Given the description of an element on the screen output the (x, y) to click on. 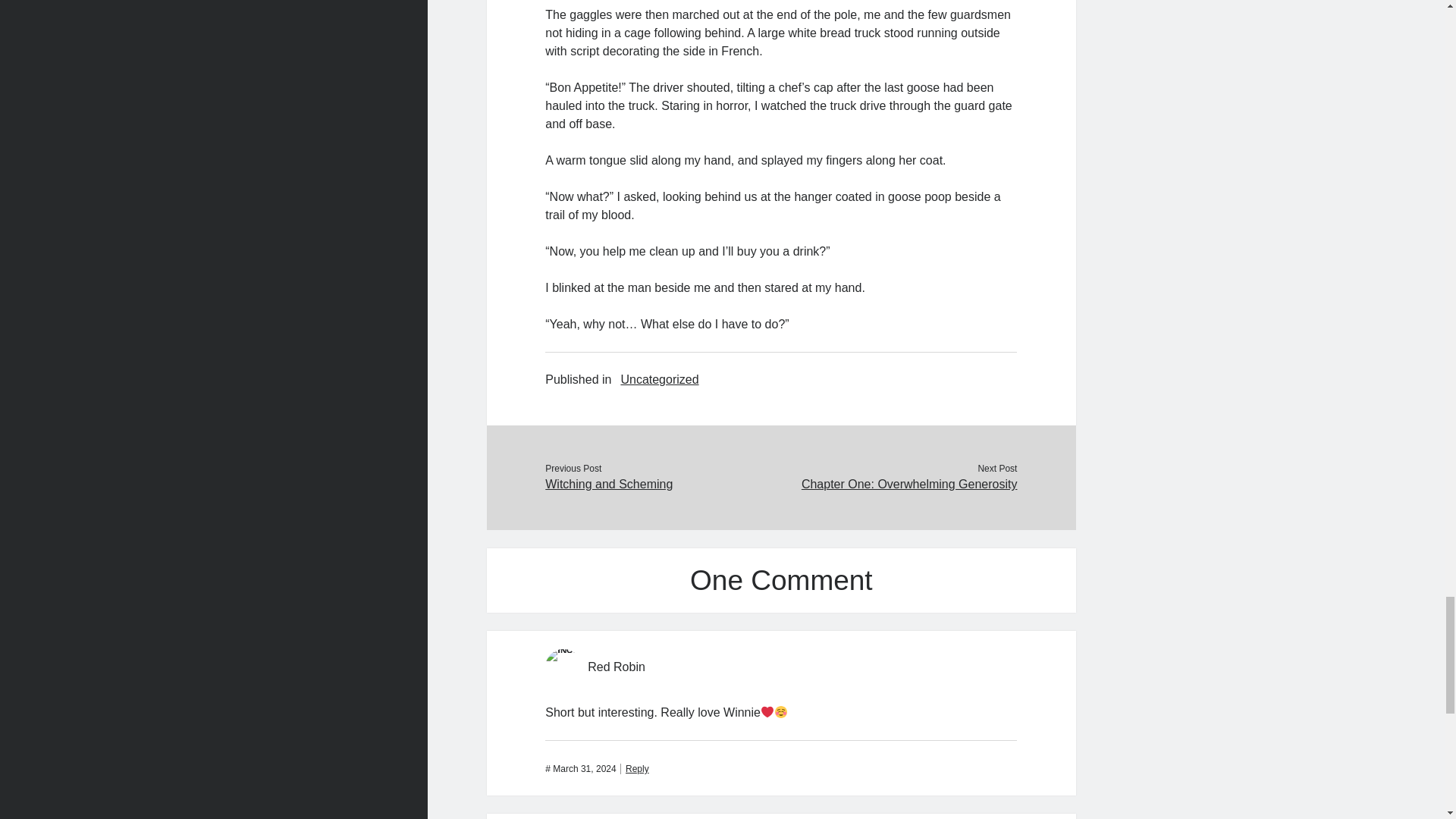
Reply (634, 768)
Witching and Scheming (662, 484)
Uncategorized (659, 380)
View all posts in Uncategorized (659, 380)
Chapter One: Overwhelming Generosity (898, 484)
